Given the description of an element on the screen output the (x, y) to click on. 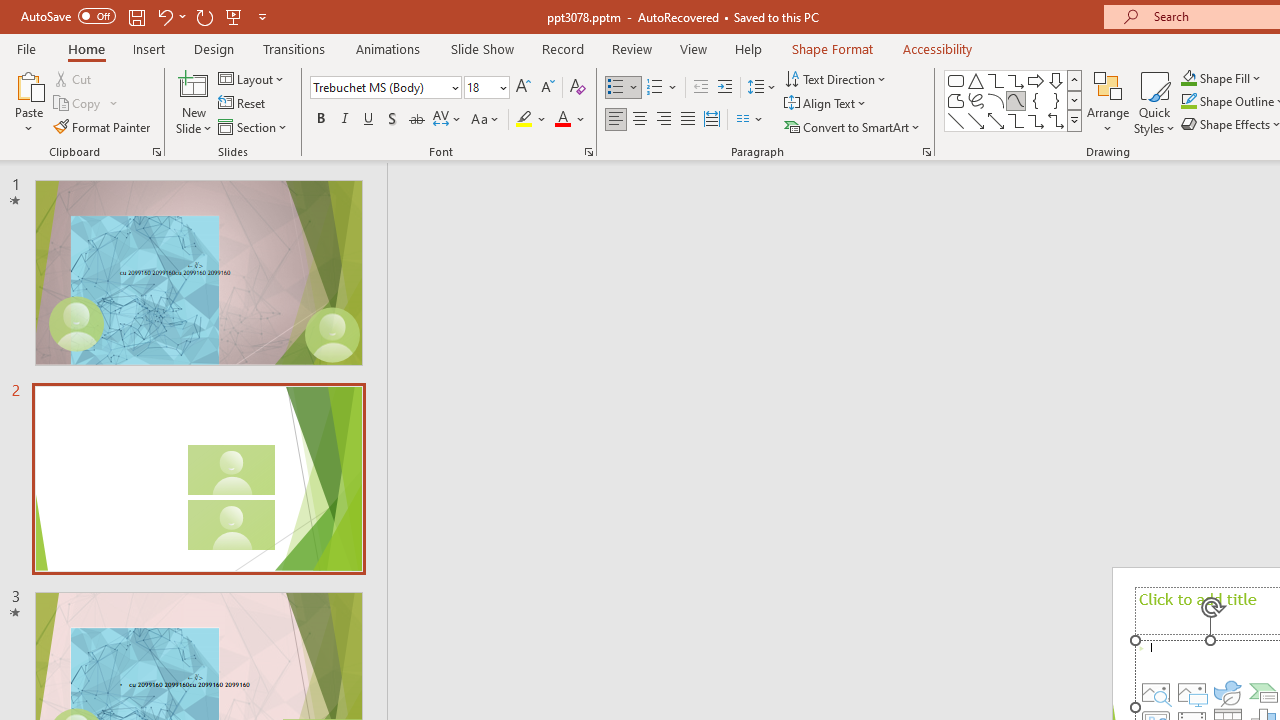
Insert an Icon (1228, 692)
